Given the description of an element on the screen output the (x, y) to click on. 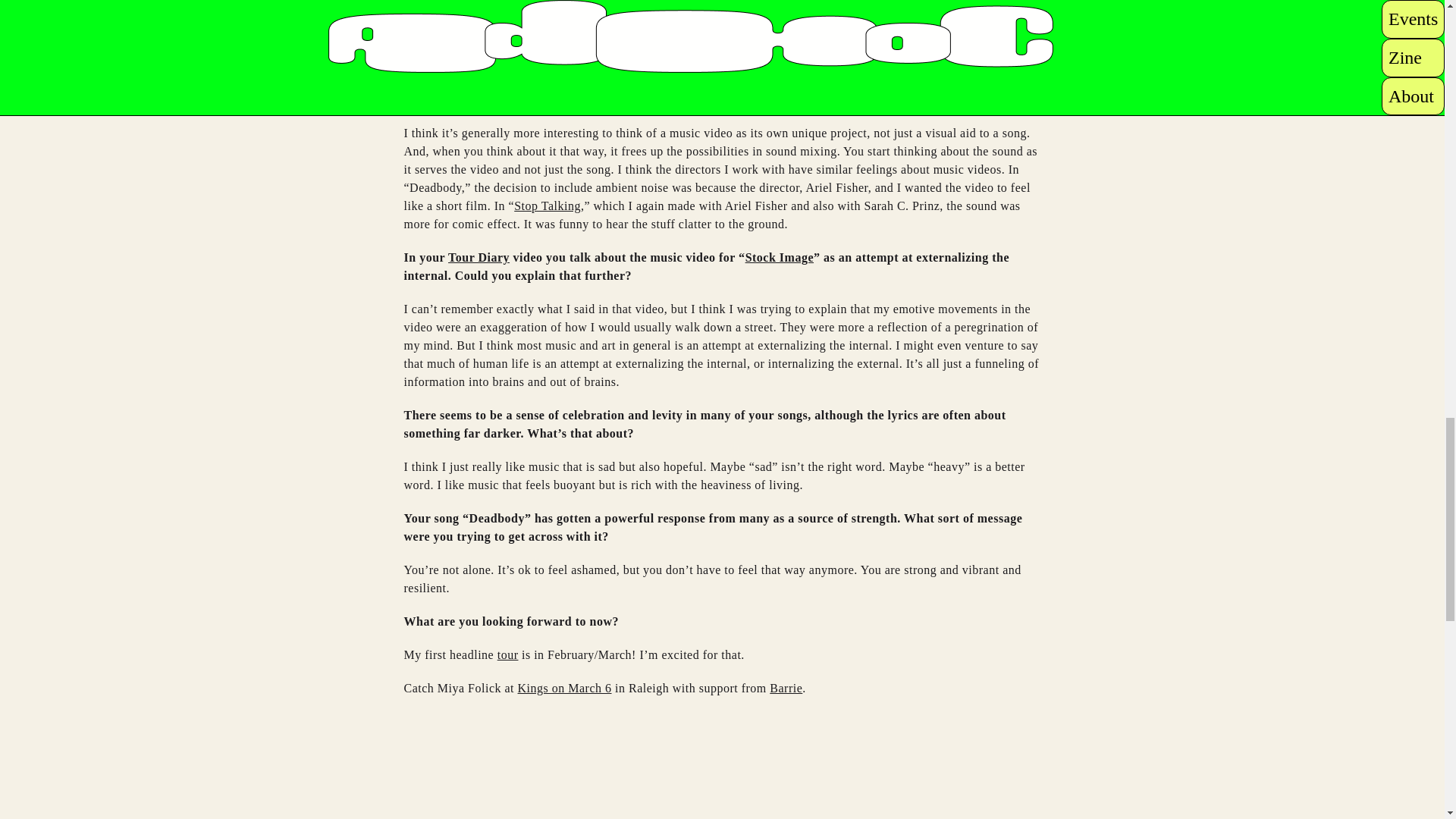
Stop Talking (546, 205)
Kings on March 6 (564, 687)
tour (507, 654)
Stock Image (779, 256)
Tour Diary (478, 256)
Barrie (786, 687)
Cost Your Love (721, 38)
